Given the description of an element on the screen output the (x, y) to click on. 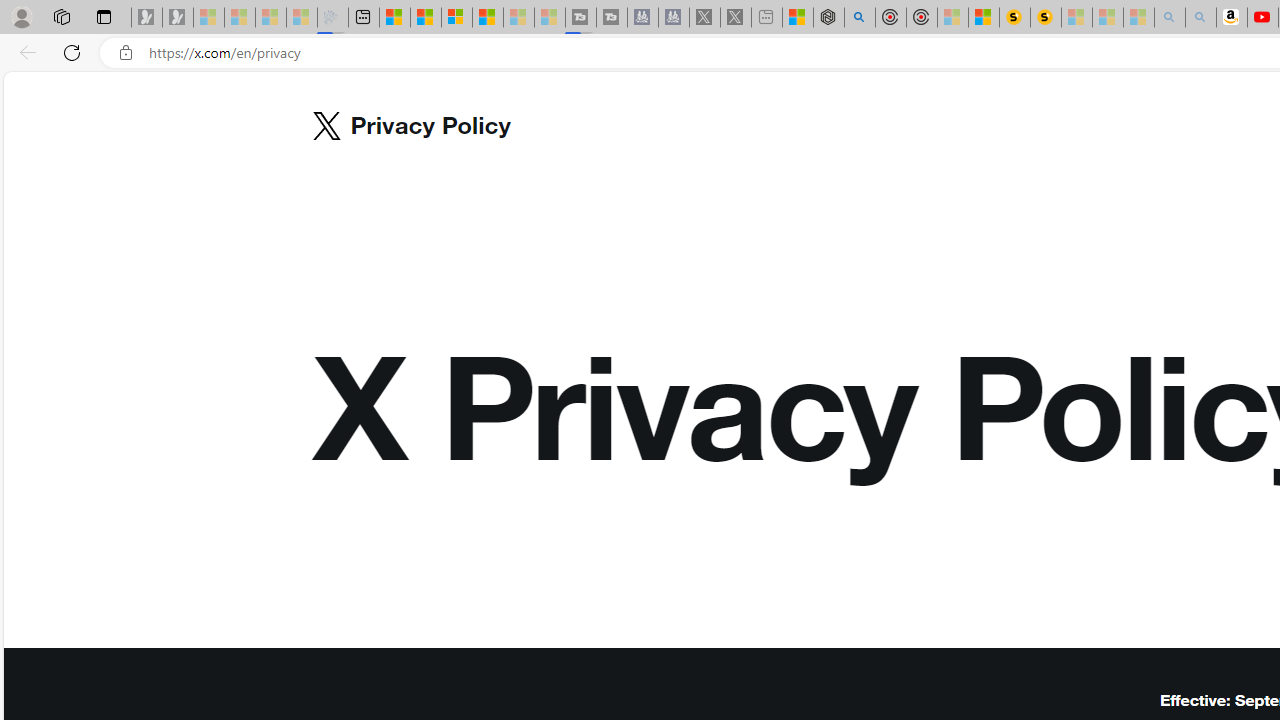
amazon - Search - Sleeping (1169, 17)
Newsletter Sign Up - Sleeping (177, 17)
